Given the description of an element on the screen output the (x, y) to click on. 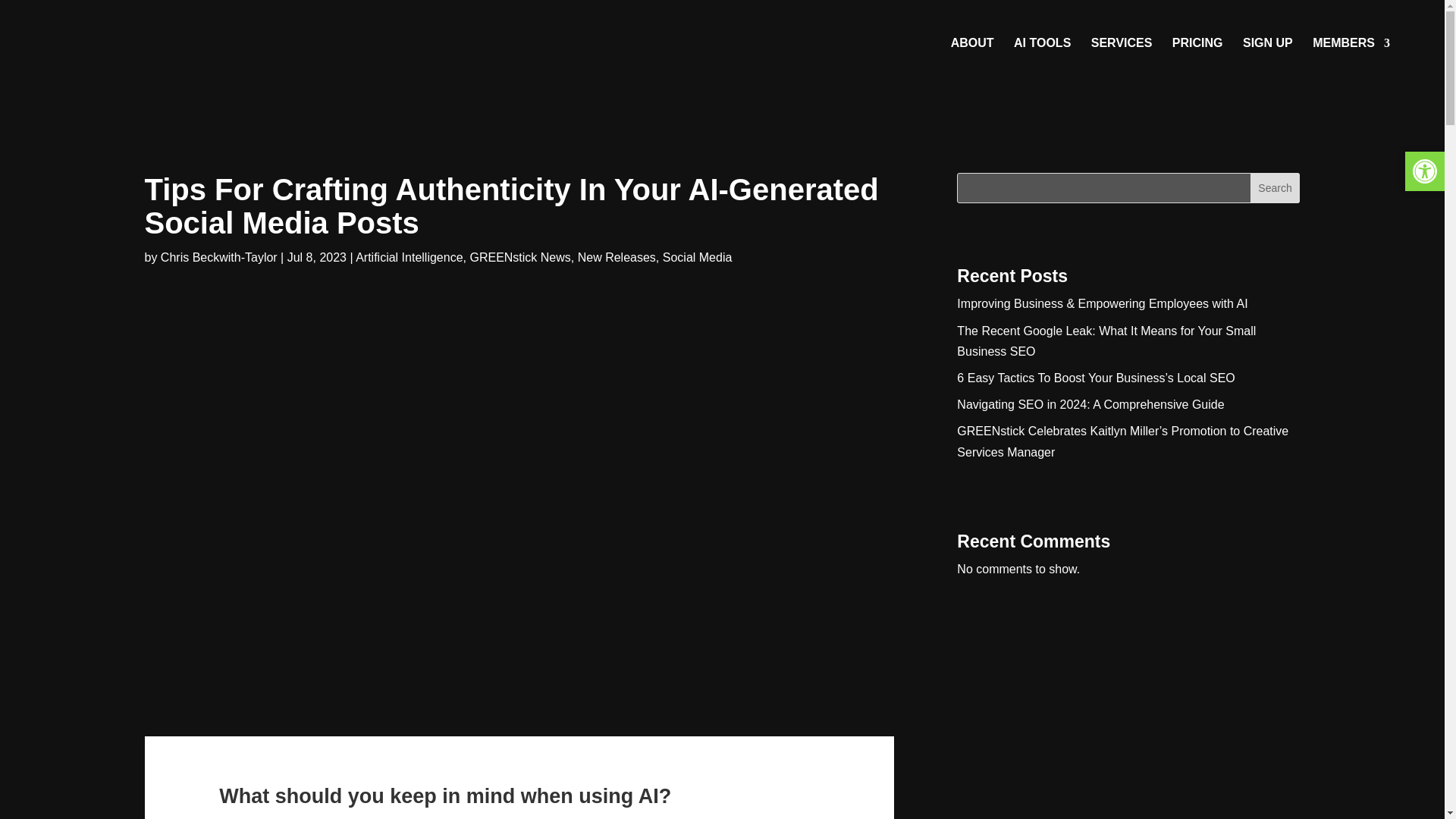
Chris Beckwith-Taylor (219, 256)
Accessibility Tools (1424, 170)
MEMBERS (1351, 61)
Navigating SEO in 2024: A Comprehensive Guide (1090, 404)
SERVICES (1121, 61)
ABOUT (972, 61)
New Releases (617, 256)
SIGN UP (1267, 61)
